Given the description of an element on the screen output the (x, y) to click on. 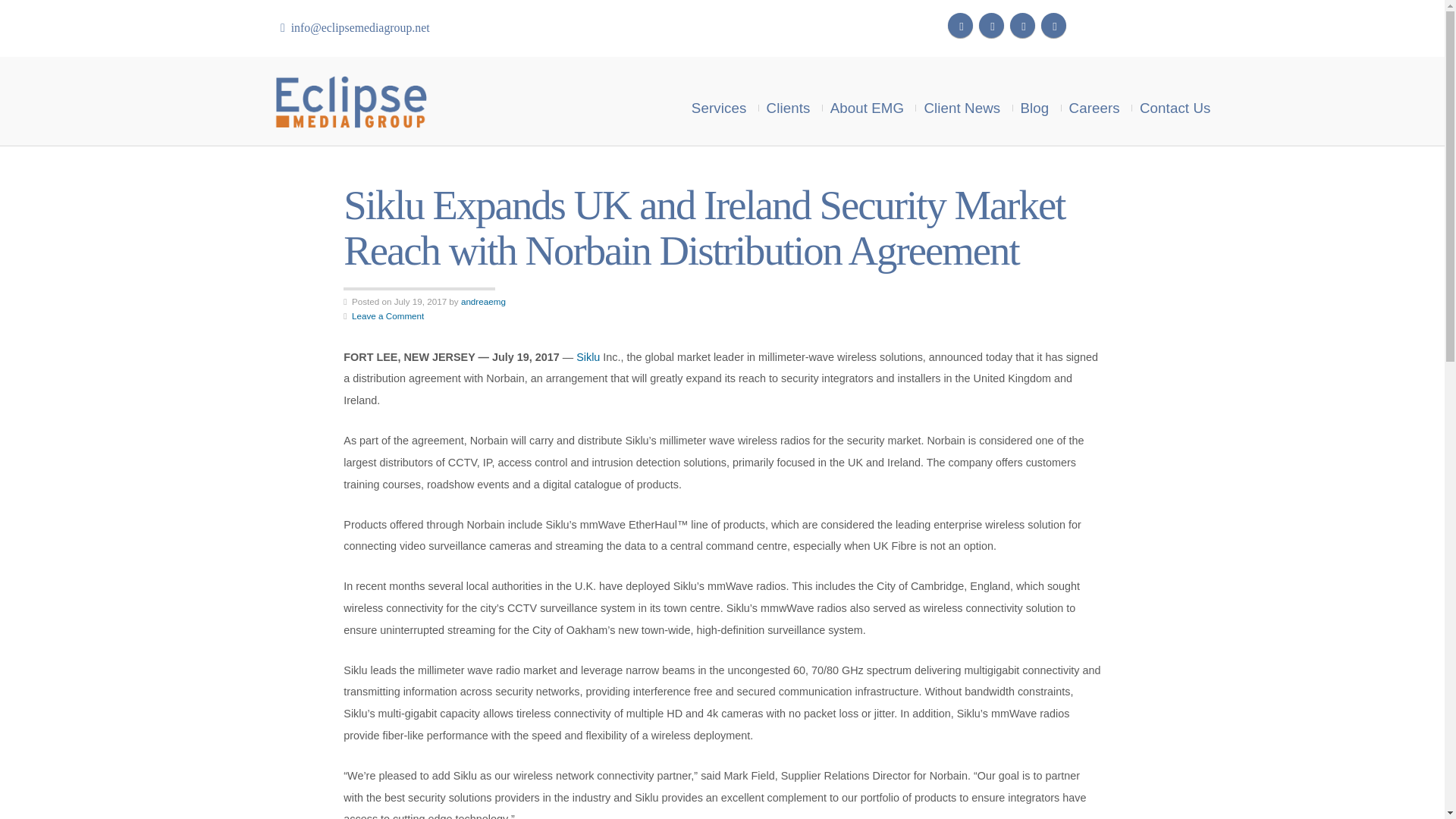
Leave a Comment (387, 316)
Posts by andreaemg (483, 301)
Services (722, 96)
Careers (1093, 96)
Contact Us (1171, 96)
Leave a Comment (387, 316)
Siklu (587, 357)
About EMG (867, 96)
Clients (788, 96)
andreaemg (483, 301)
Client News (961, 96)
